Given the description of an element on the screen output the (x, y) to click on. 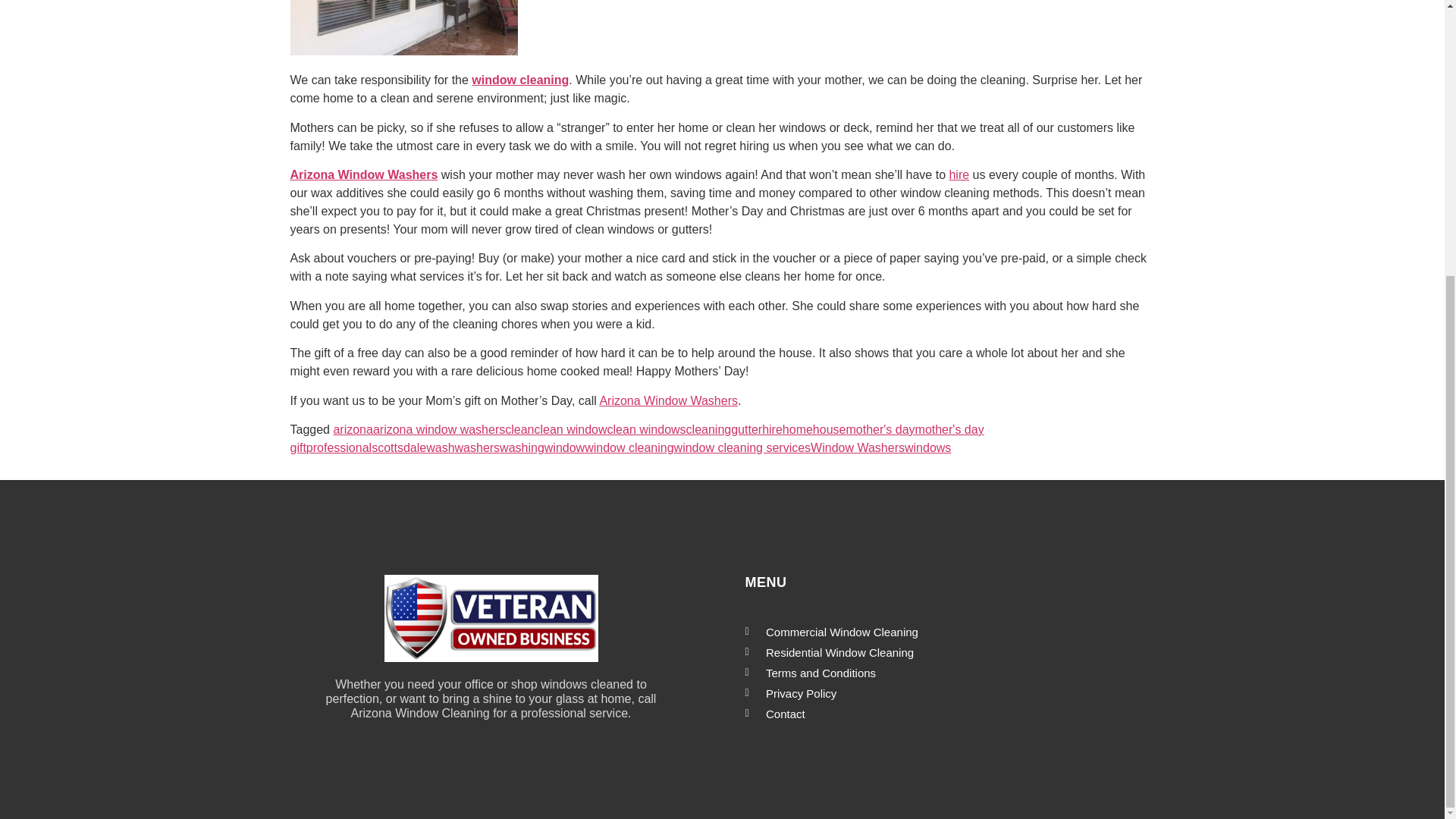
cleaning (708, 429)
Arizona Window Washers (668, 400)
mother's day (879, 429)
scottsdale (398, 447)
clean window (570, 429)
clean (519, 429)
mother's day gift (636, 438)
window cleaning (520, 79)
home (797, 429)
house (828, 429)
hire (772, 429)
wash (440, 447)
hire (959, 174)
arizona (352, 429)
gutter (745, 429)
